Given the description of an element on the screen output the (x, y) to click on. 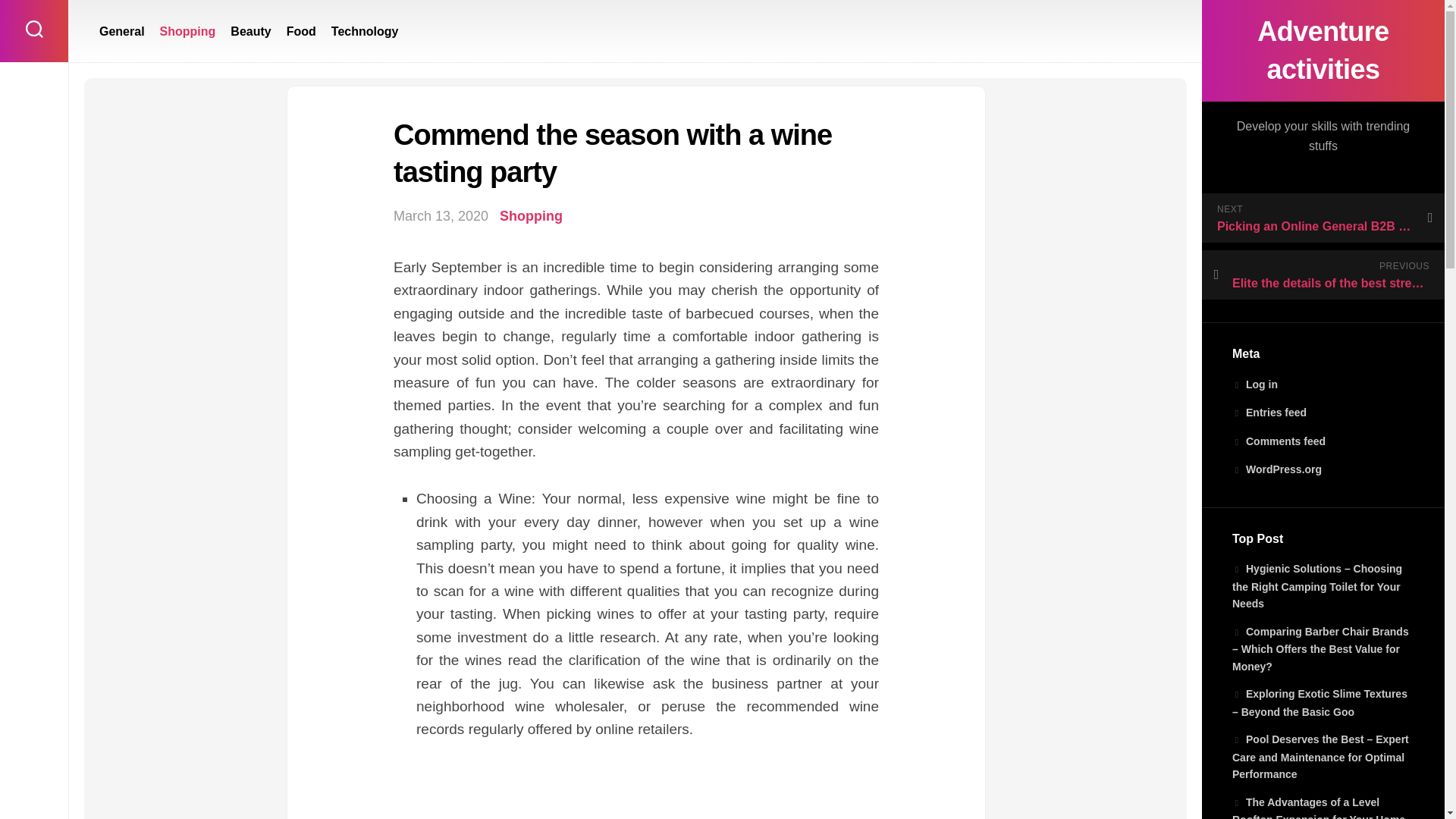
Entries feed (1268, 412)
The Advantages of a Level Rooftop Expansion for Your Home (1318, 807)
Adventure activities (1322, 50)
Log in (1254, 384)
WordPress.org (1276, 469)
Comments feed (1277, 440)
